Given the description of an element on the screen output the (x, y) to click on. 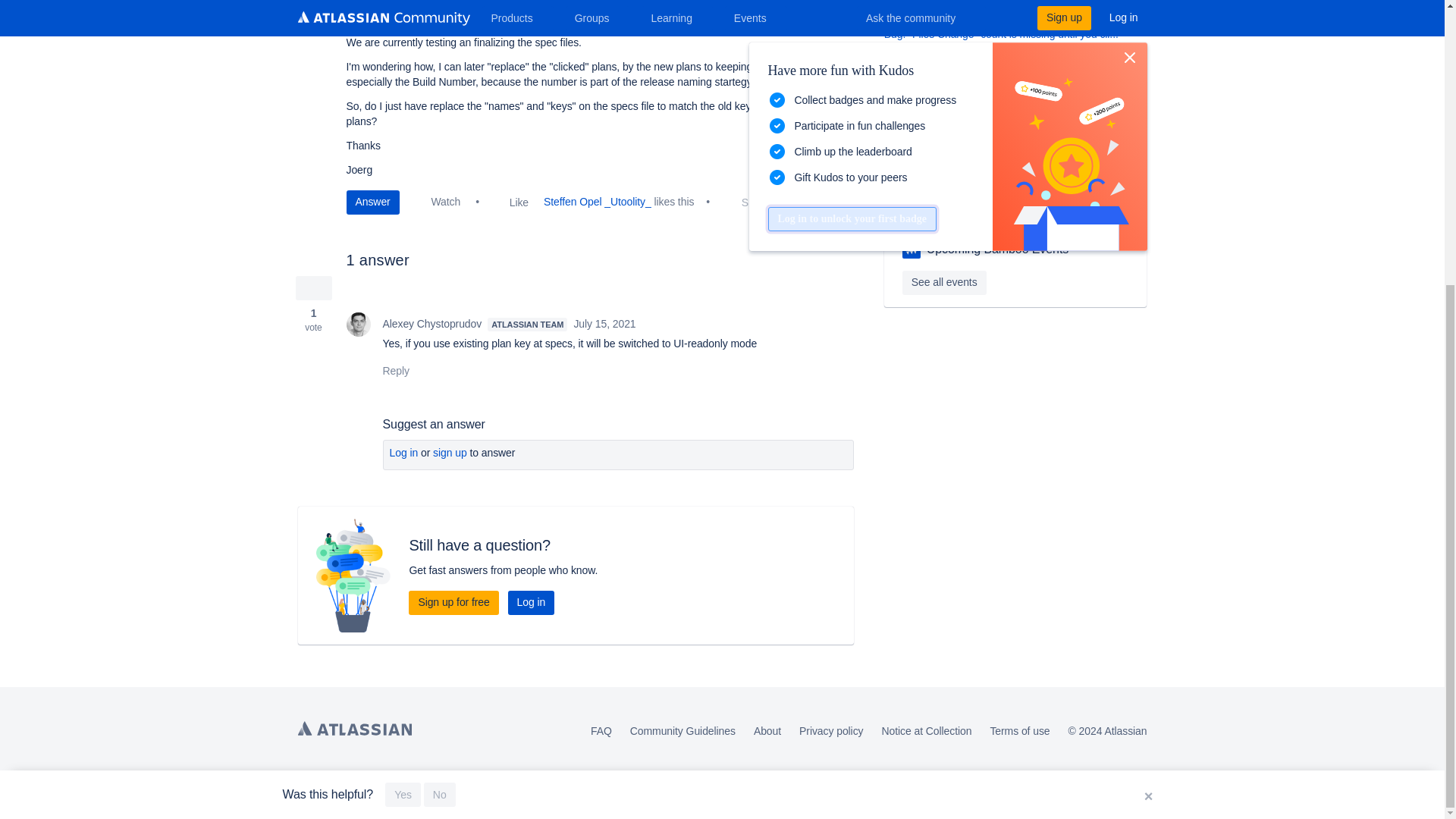
Alexey Chystoprudov (357, 324)
AUG Leaders (911, 249)
